Given the description of an element on the screen output the (x, y) to click on. 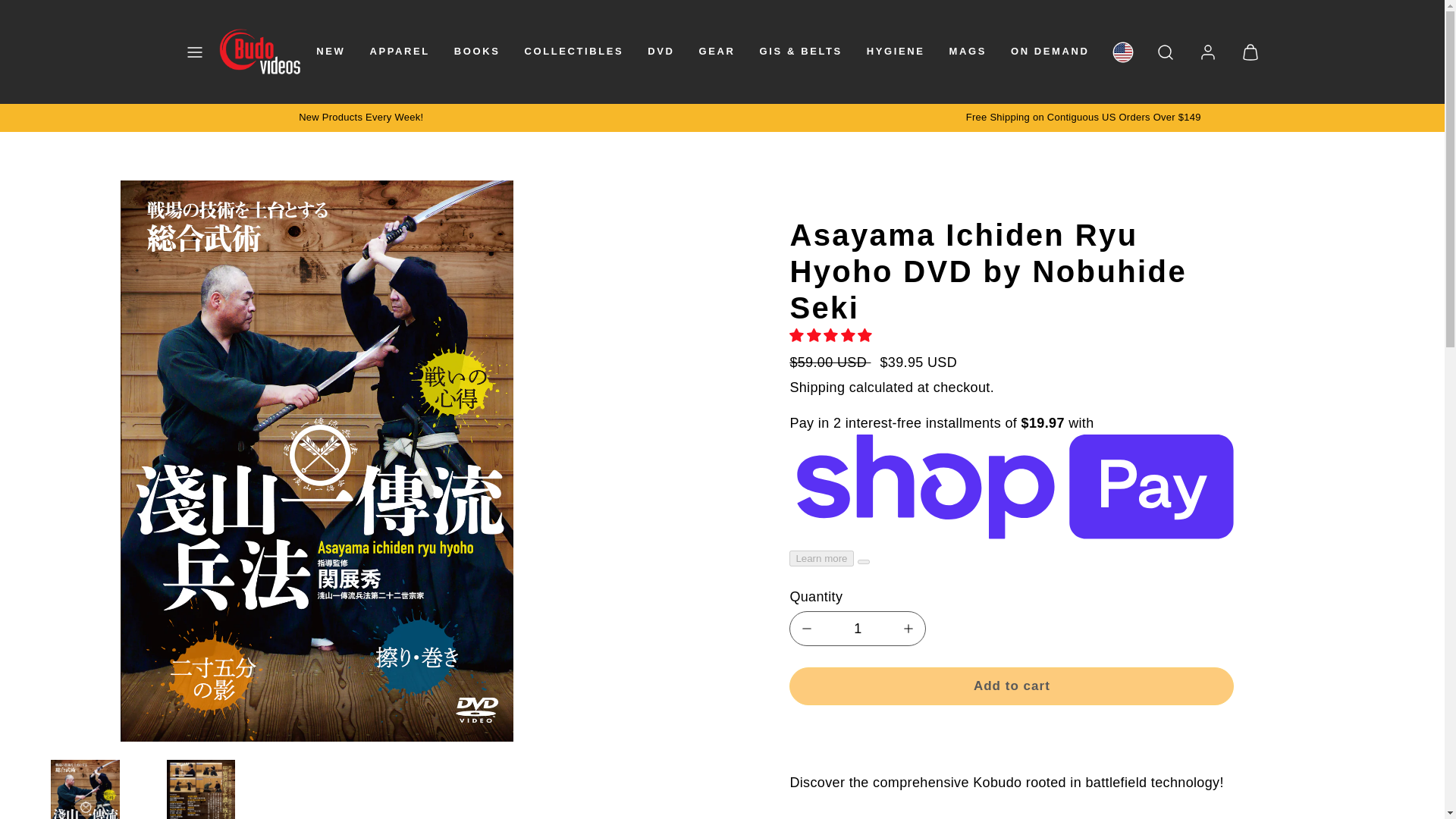
DVD (660, 51)
SEARCH (1164, 52)
1 (857, 628)
GEAR (717, 51)
BOOKS (477, 51)
COLLECTIBLES (573, 51)
ACCOUNT (1207, 52)
ON DEMAND (1050, 51)
HYGIENE (895, 51)
APPAREL (398, 51)
